Given the description of an element on the screen output the (x, y) to click on. 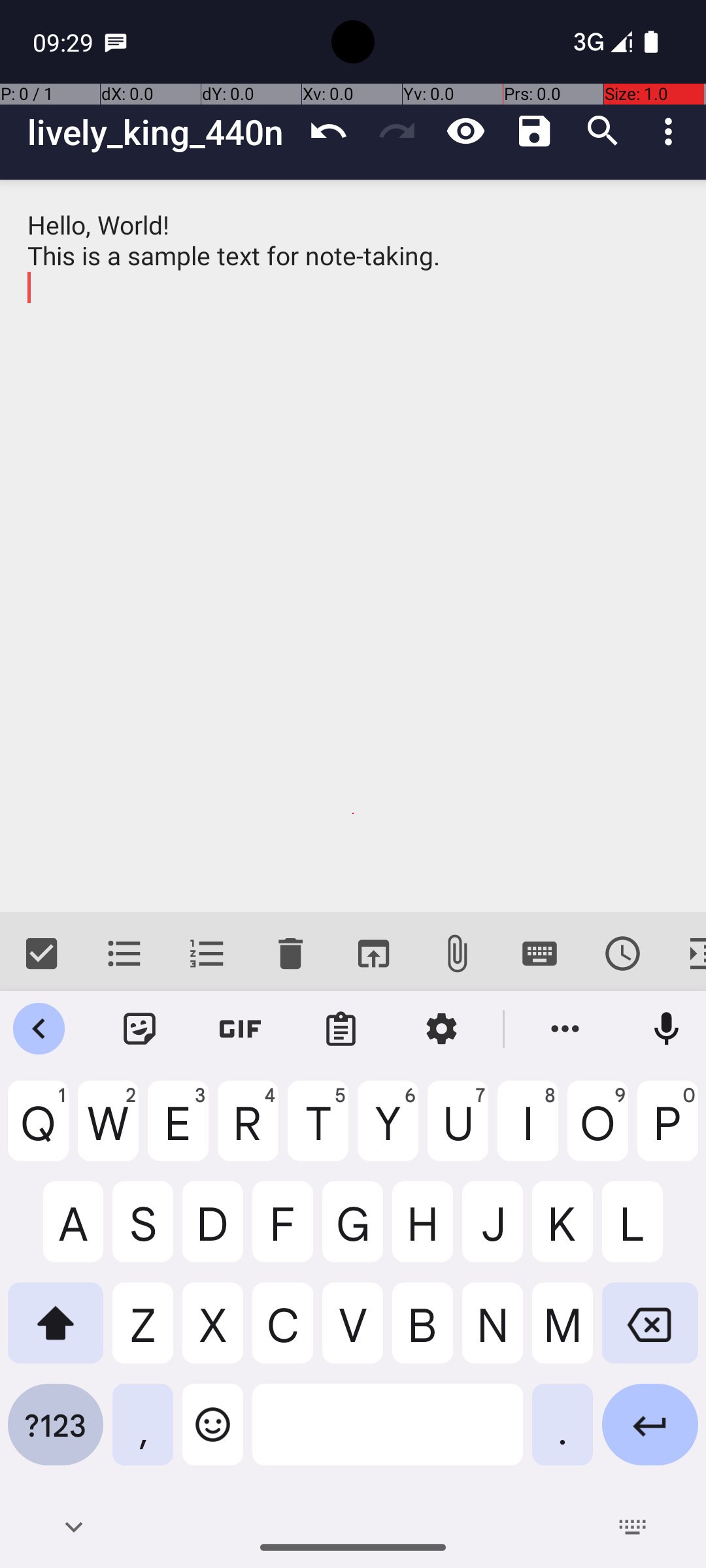
lively_king_440n Element type: android.widget.TextView (160, 131)
Hello, World!
This is a sample text for note-taking.
 Element type: android.widget.EditText (353, 545)
Ordered list Element type: android.widget.ImageView (207, 953)
Indent Element type: android.widget.ImageView (685, 953)
09:29 Element type: android.widget.TextView (64, 41)
